Given the description of an element on the screen output the (x, y) to click on. 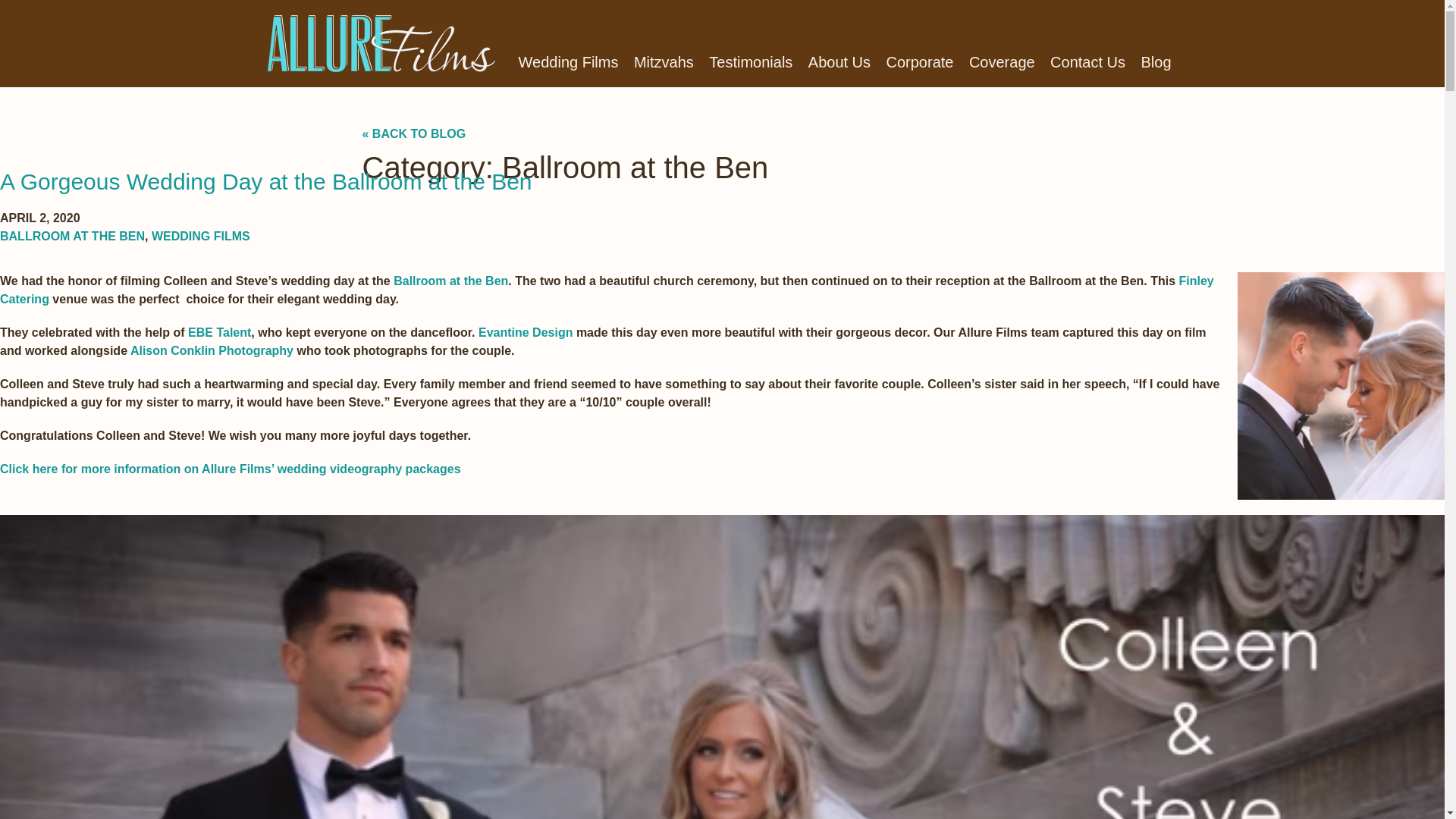
Evantine Design (525, 332)
BALLROOM AT THE BEN (72, 236)
Ballroom at the Ben (450, 280)
About Us (839, 62)
Testimonials (750, 62)
Alison Conklin Photography (212, 350)
Mitzvahs (663, 62)
WEDDING FILMS (200, 236)
Blog (1155, 62)
Finley Catering (607, 289)
